Given the description of an element on the screen output the (x, y) to click on. 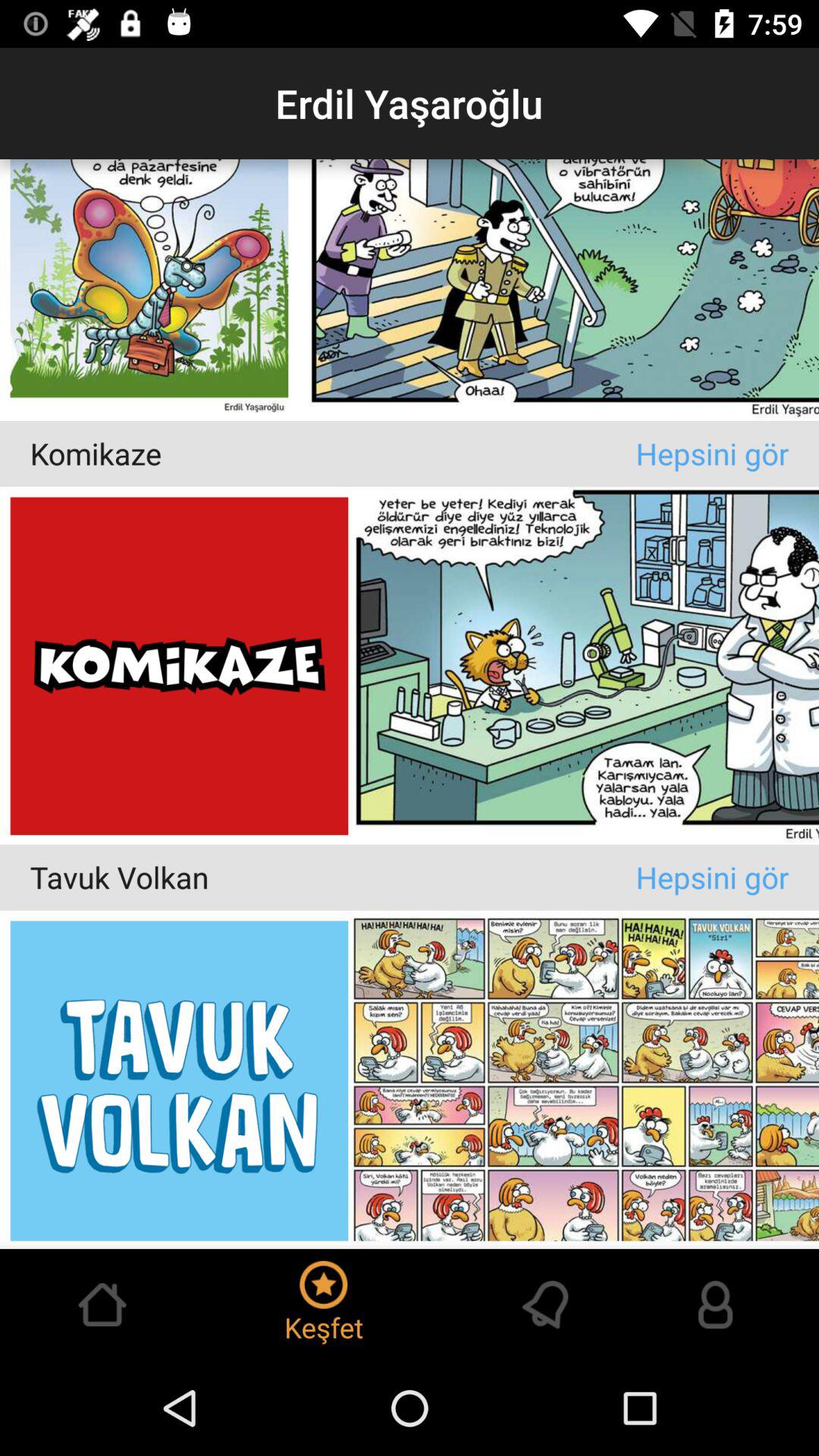
press tavuk volkan (332, 877)
